Given the description of an element on the screen output the (x, y) to click on. 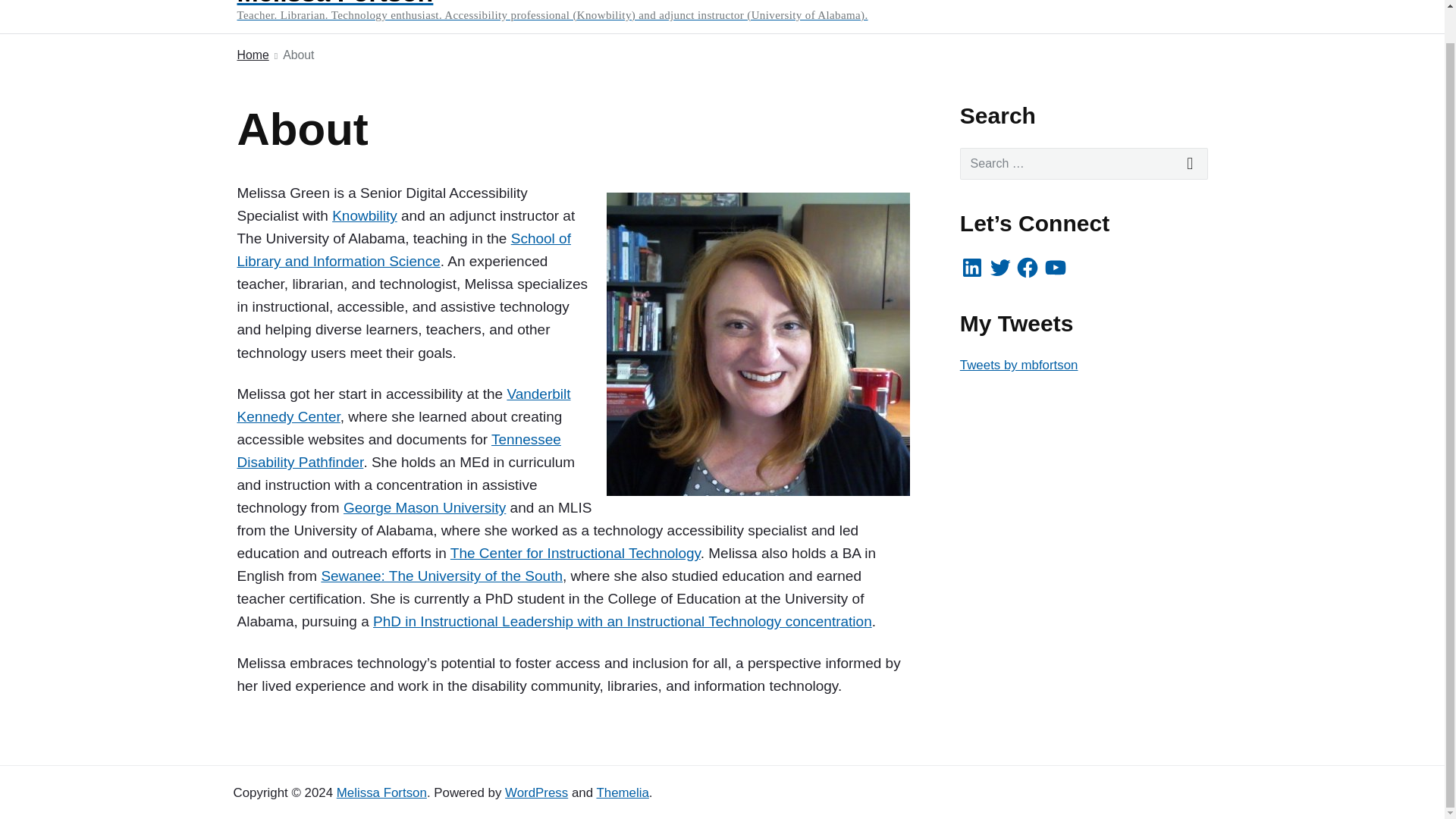
YouTube (1055, 267)
Vanderbilt Kennedy Center (402, 405)
SEARCH (1190, 163)
Tennessee Disability Pathfinder (397, 450)
Facebook (1026, 267)
LinkedIn (971, 267)
Sewanee: The University of the South (441, 575)
Themelia (621, 792)
George Mason University (424, 507)
The Center for Instructional Technology (574, 553)
